Given the description of an element on the screen output the (x, y) to click on. 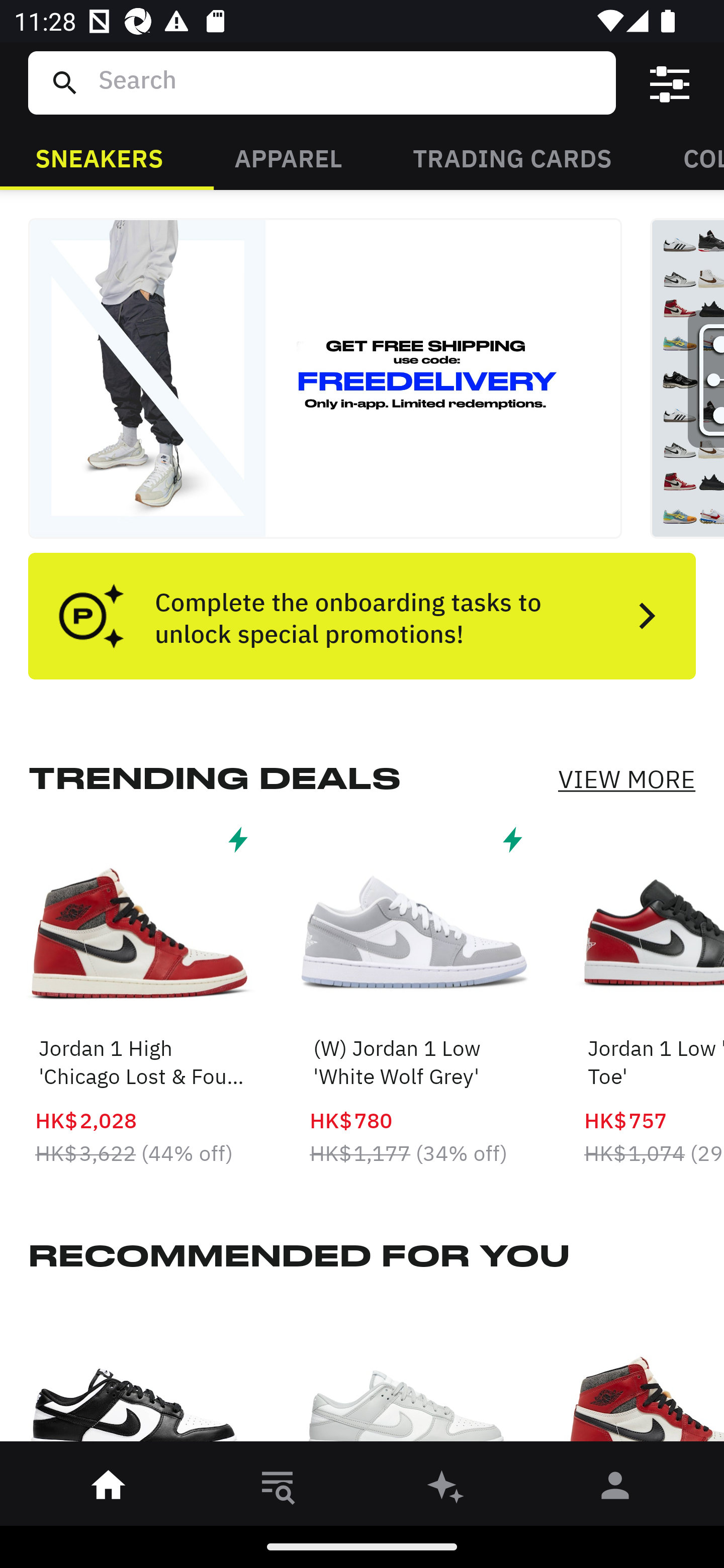
Search (349, 82)
 (669, 82)
SNEAKERS (99, 156)
APPAREL (287, 156)
TRADING CARDS (512, 156)
VIEW MORE (626, 779)
󰋜 (108, 1488)
󱎸 (277, 1488)
󰫢 (446, 1488)
󰀄 (615, 1488)
